Given the description of an element on the screen output the (x, y) to click on. 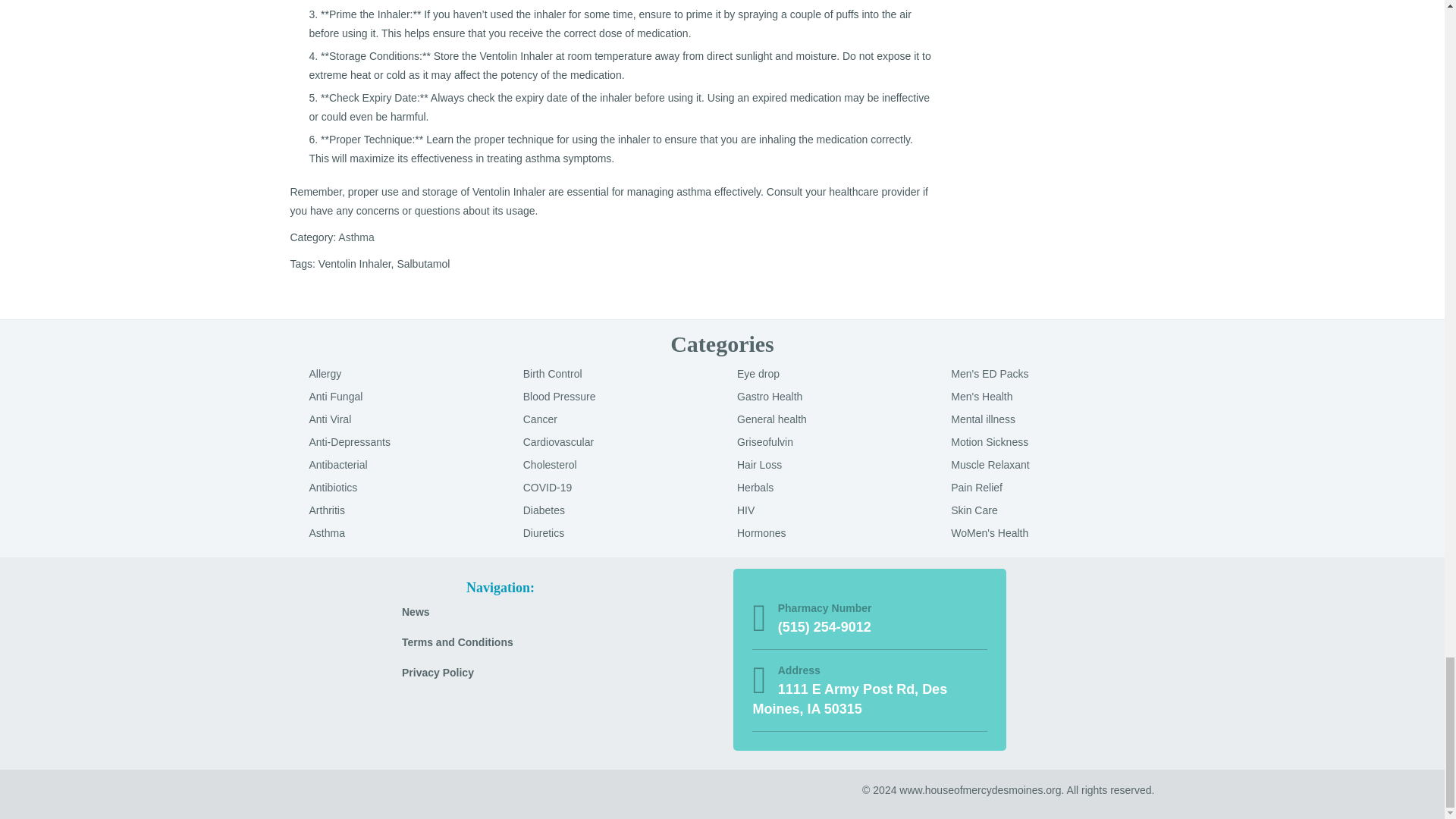
Anti Fungal (335, 396)
Asthma (355, 236)
Cholesterol (549, 464)
General health (771, 419)
Gastro Health (769, 396)
Griseofulvin (764, 441)
COVID-19 (547, 487)
Diabetes (543, 510)
Anti-Depressants (349, 441)
Cardiovascular (558, 441)
